Given the description of an element on the screen output the (x, y) to click on. 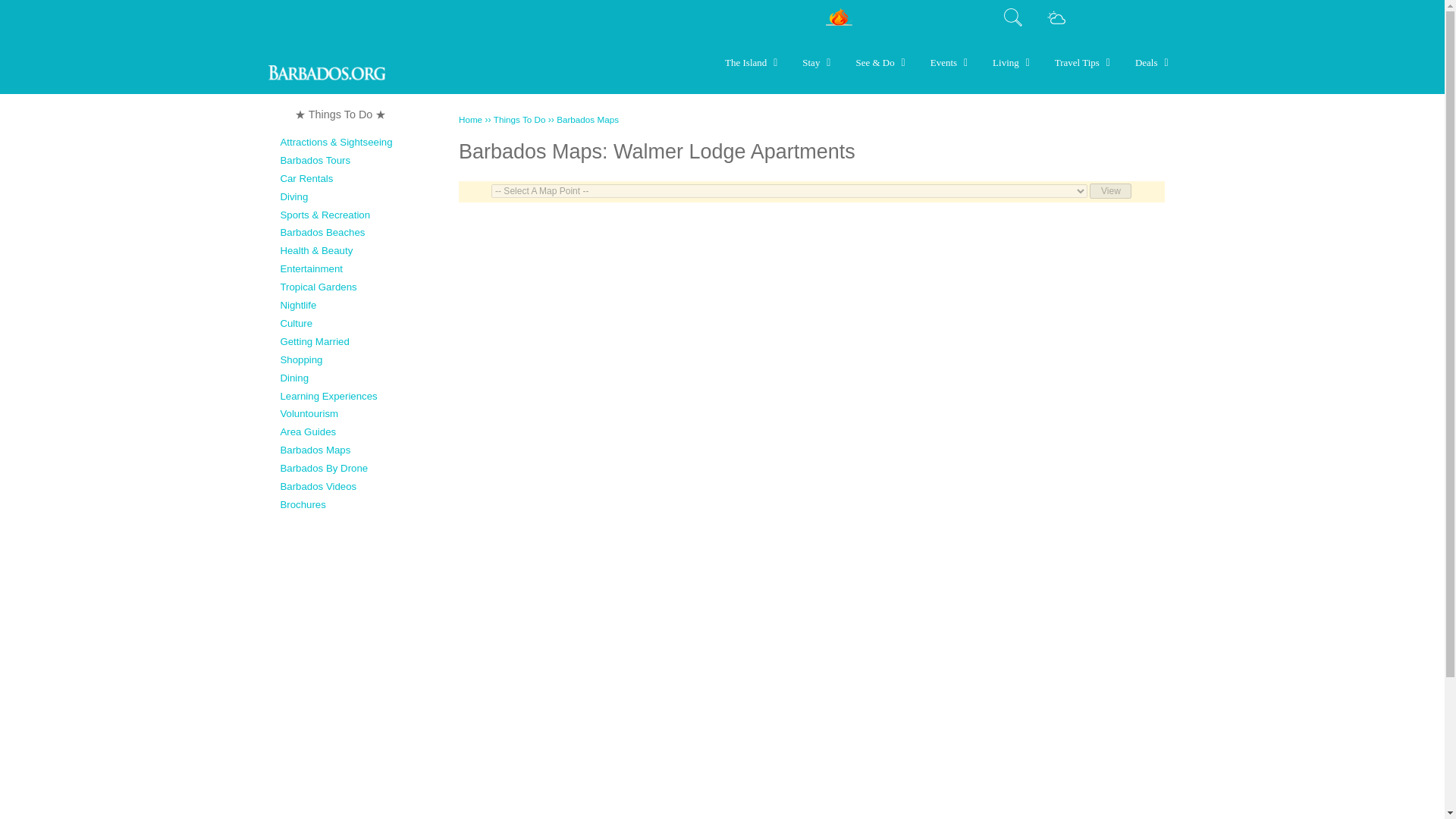
Things To Do In Barbados (340, 114)
What's Hot in Barbados (838, 16)
Barbados (469, 119)
What's Hot in Barbados (838, 22)
Things To Do in Barbados (519, 119)
Barbados Maps (587, 119)
  View   (1110, 191)
